Given the description of an element on the screen output the (x, y) to click on. 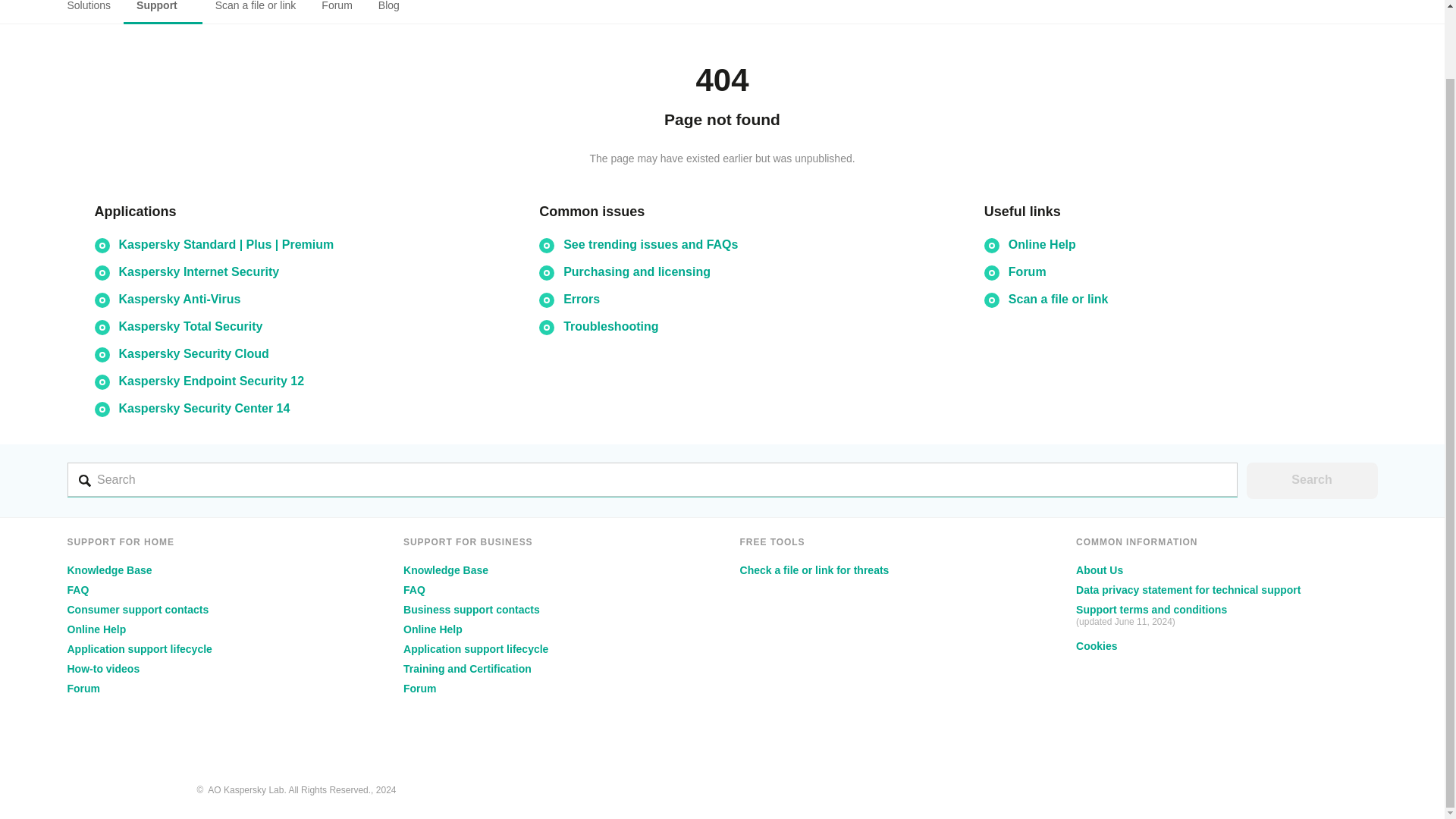
Search (1311, 480)
Blog (388, 11)
Solutions (94, 11)
Scan a file or link (1058, 298)
X (1288, 786)
Consumer support contacts (137, 609)
Kaspersky Total Security (189, 326)
How-to videos (102, 668)
Forum (336, 11)
Knowledge Base (108, 570)
Errors (581, 298)
Scan a file or link (255, 11)
LinkedIn (1313, 786)
Forum (1027, 271)
See trending issues and FAQs (650, 244)
